Given the description of an element on the screen output the (x, y) to click on. 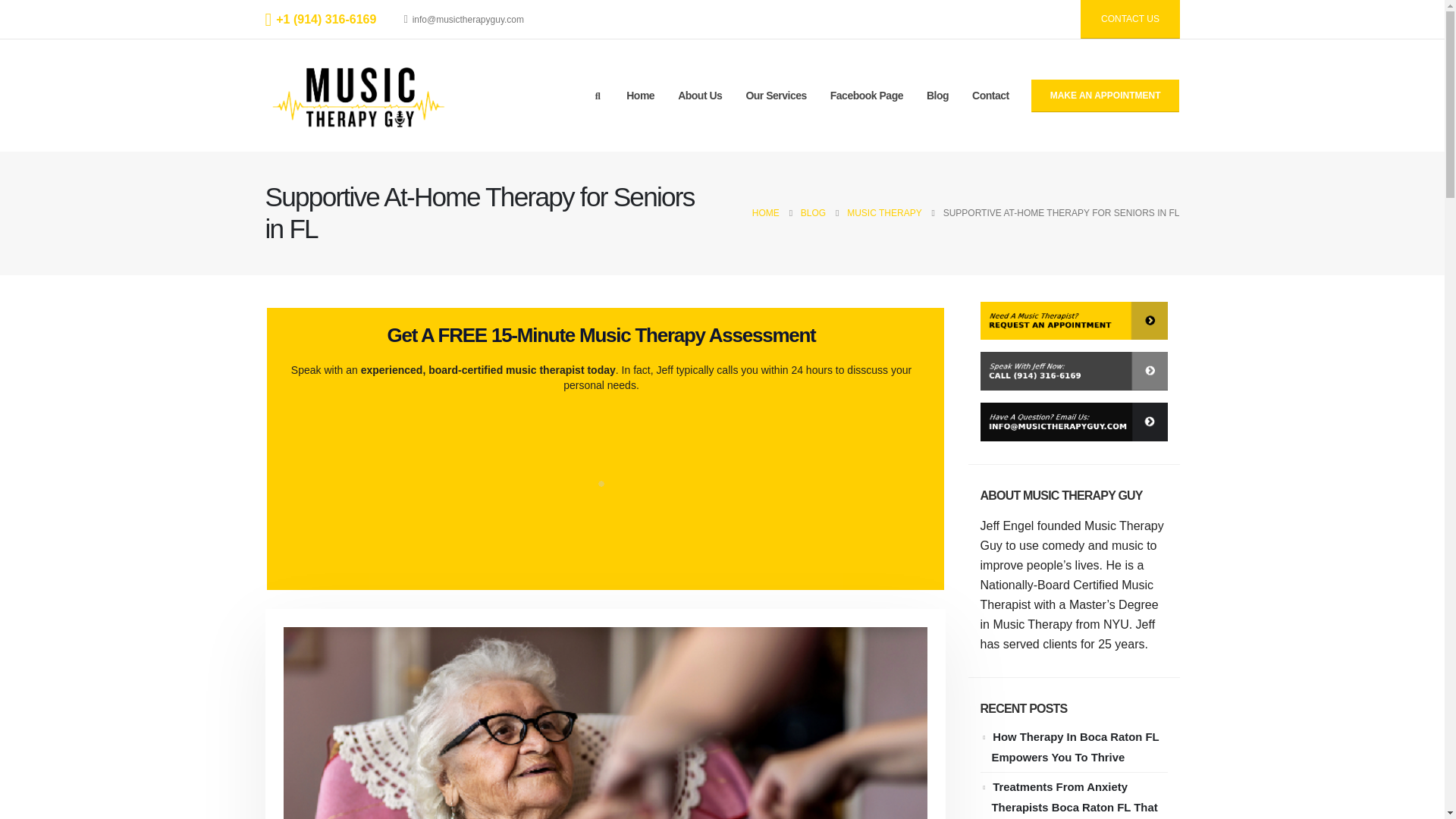
Go to Home Page (765, 212)
Music Therapy Guy - Music Therapist In Florida (359, 95)
Our Services (774, 95)
MUSIC THERAPY (884, 212)
BLOG (812, 212)
MAKE AN APPOINTMENT (1104, 95)
How Therapy In Boca Raton FL Empowers You To Thrive (1074, 747)
Facebook Page (866, 95)
CONTACT US (1129, 19)
